Given the description of an element on the screen output the (x, y) to click on. 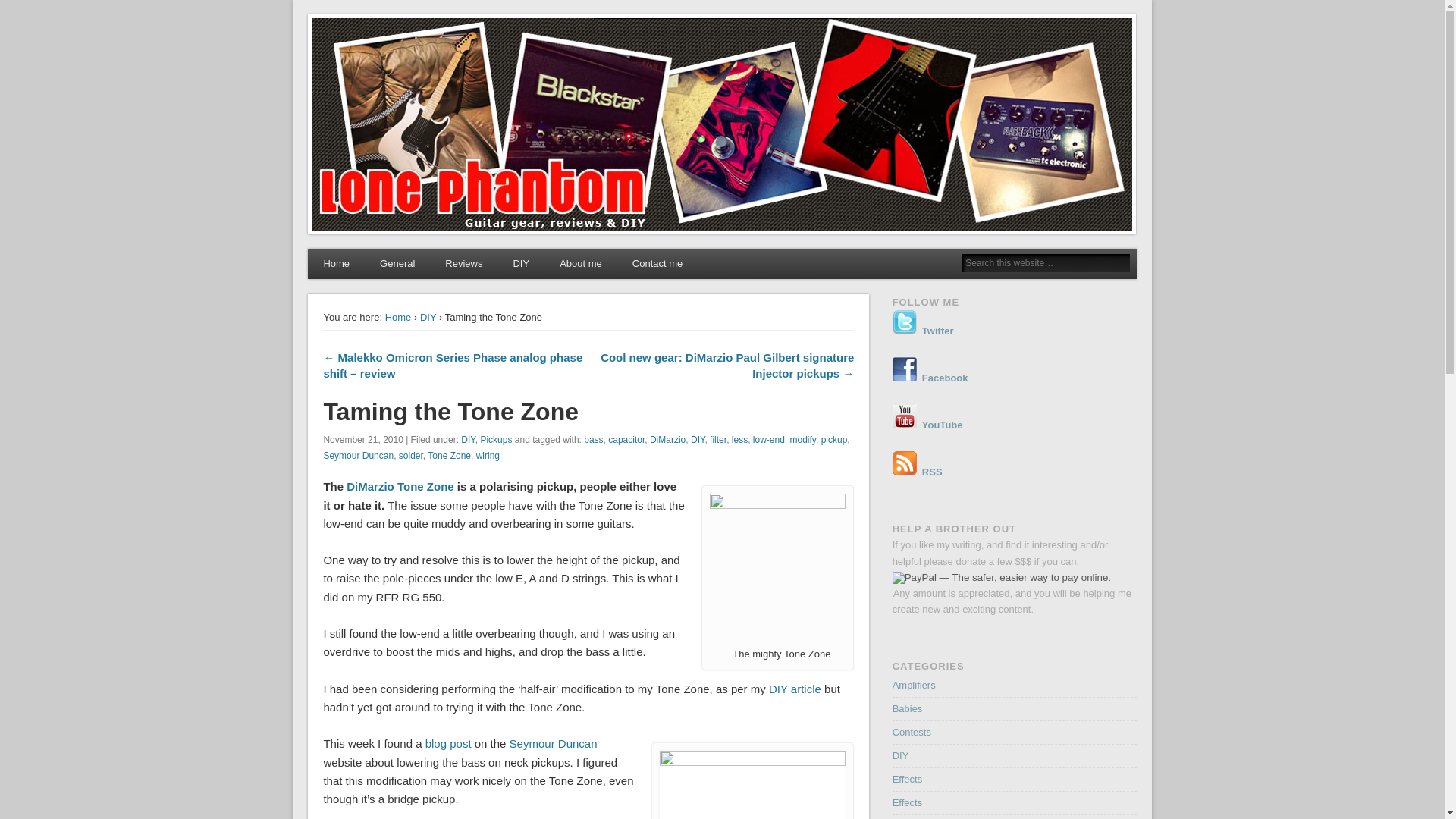
Search (11, 7)
bass (592, 439)
less (740, 439)
DiMarzio (370, 486)
Home (398, 317)
About me (580, 263)
Lone Phantom (380, 37)
Home (336, 263)
Pickups (496, 439)
Tone Zone (777, 569)
Seymour Duncan (552, 743)
low-end (768, 439)
Seymour Duncan (358, 455)
DIY (427, 317)
DIY (697, 439)
